Given the description of an element on the screen output the (x, y) to click on. 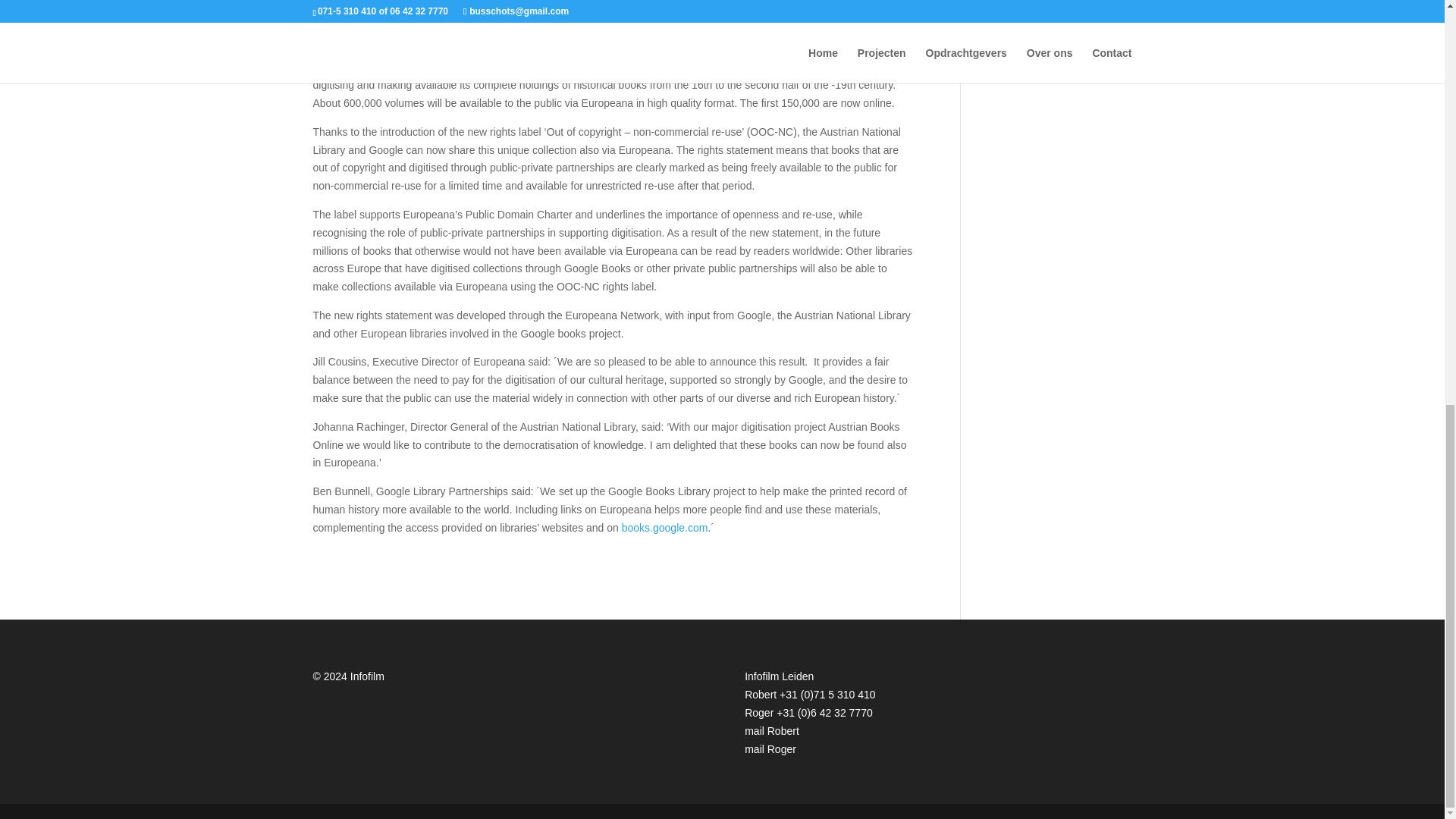
mail Robert (771, 730)
books.google.com (664, 527)
mail Roger (770, 748)
